Given the description of an element on the screen output the (x, y) to click on. 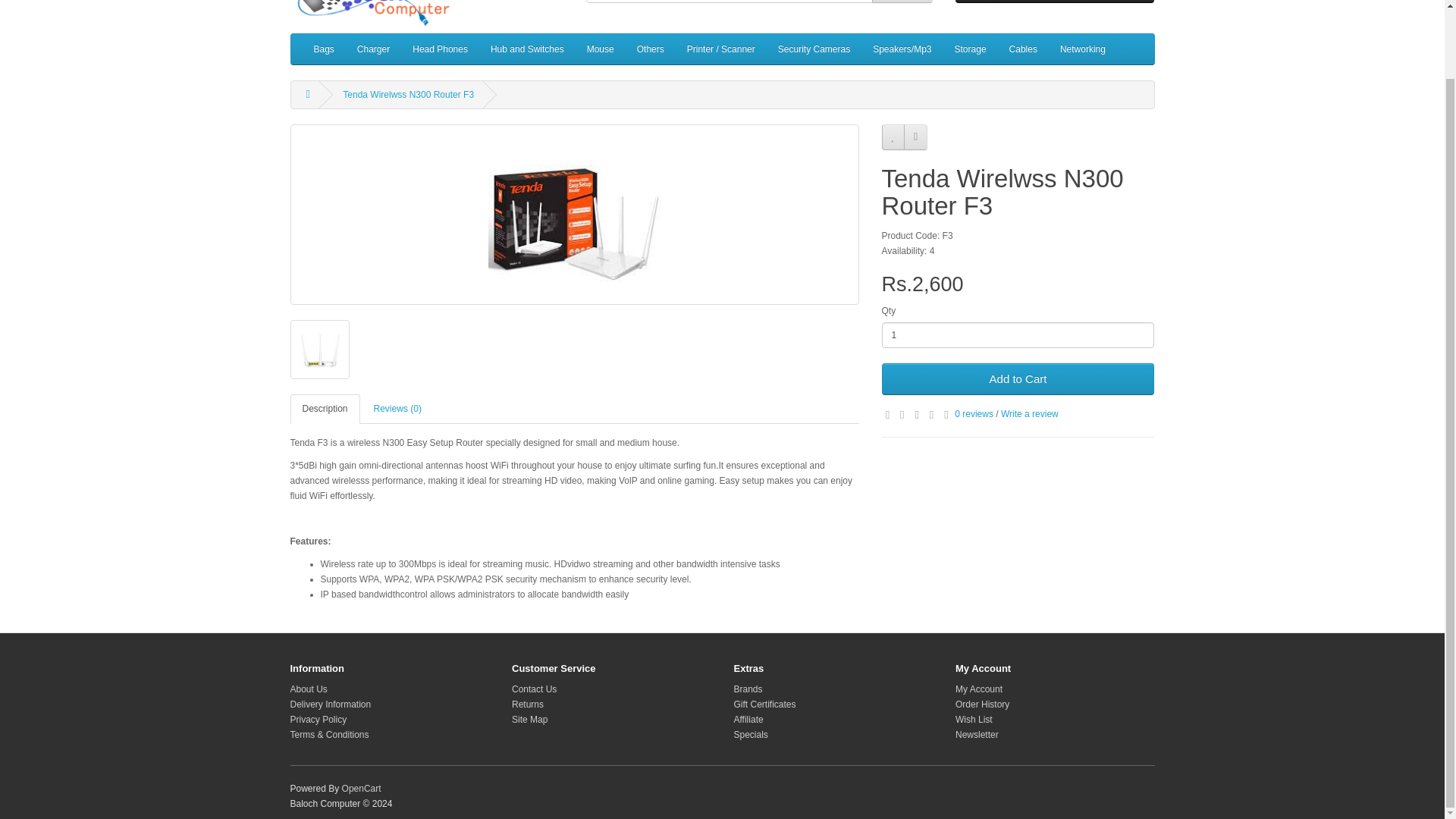
Storage (970, 49)
Write a review (1029, 413)
0 reviews (973, 413)
Mouse (600, 49)
Add to Cart (1017, 378)
Description (324, 408)
Head Phones (440, 49)
Bags (323, 49)
Others (650, 49)
Networking (1082, 49)
